Given the description of an element on the screen output the (x, y) to click on. 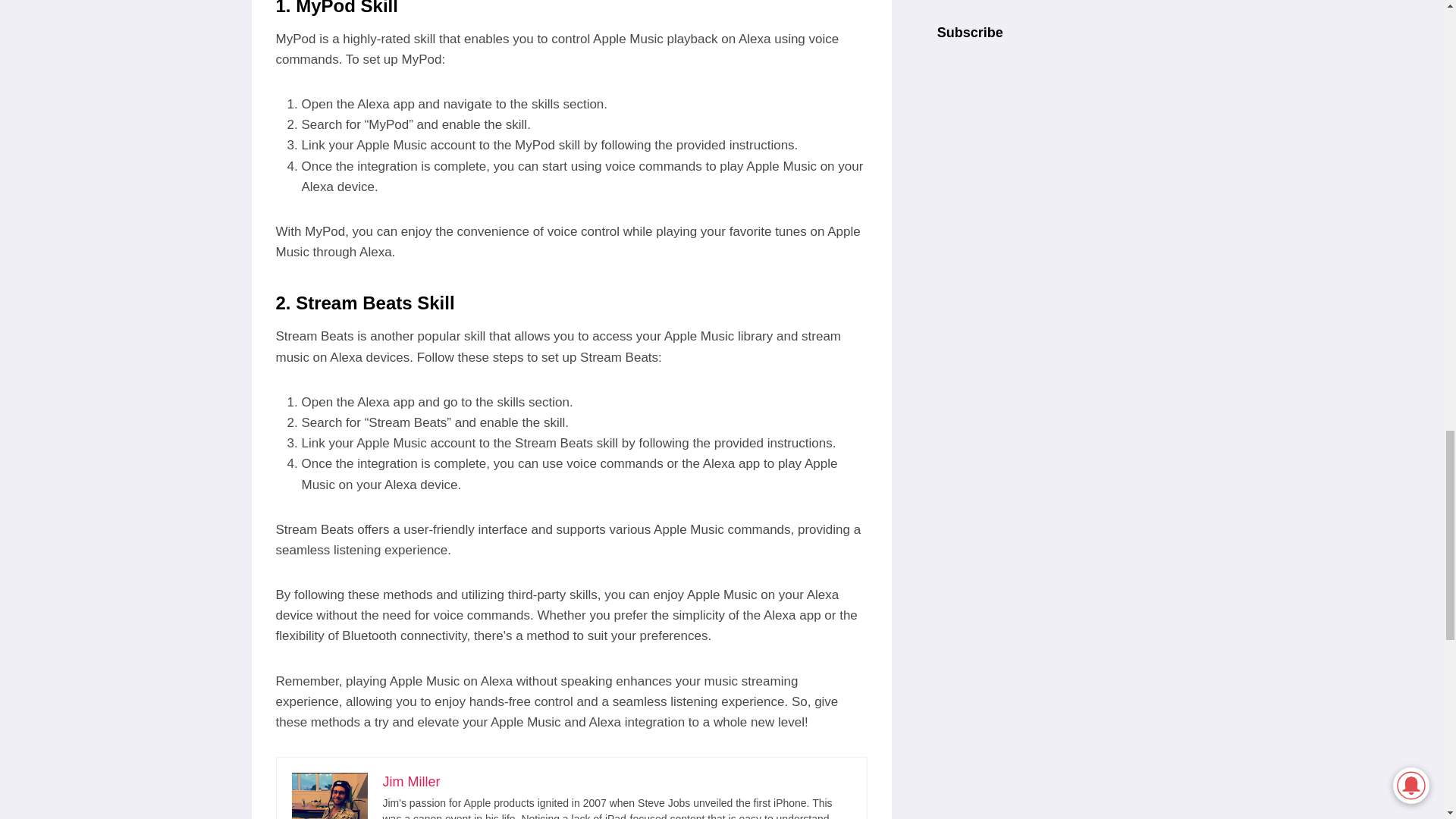
Jim Miller (410, 781)
